Given the description of an element on the screen output the (x, y) to click on. 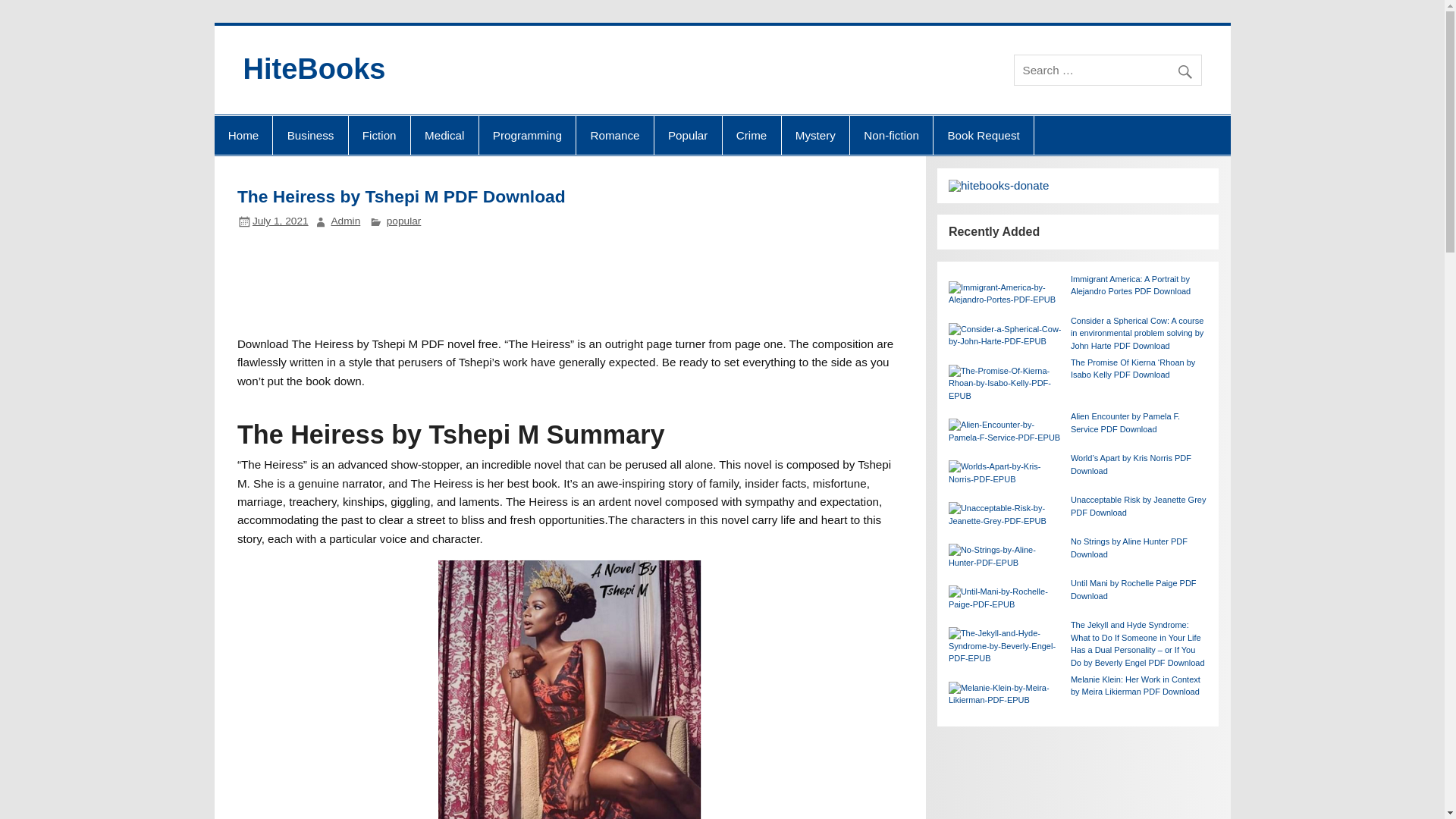
Book Request (983, 135)
5:20 pm (279, 220)
Home (243, 135)
Crime (751, 135)
HiteBooks (314, 69)
Programming (527, 135)
No Strings by Aline Hunter PDF Download (1129, 547)
Alien Encounter by Pamela F. Service PDF Download (1124, 422)
Romance (614, 135)
